Given the description of an element on the screen output the (x, y) to click on. 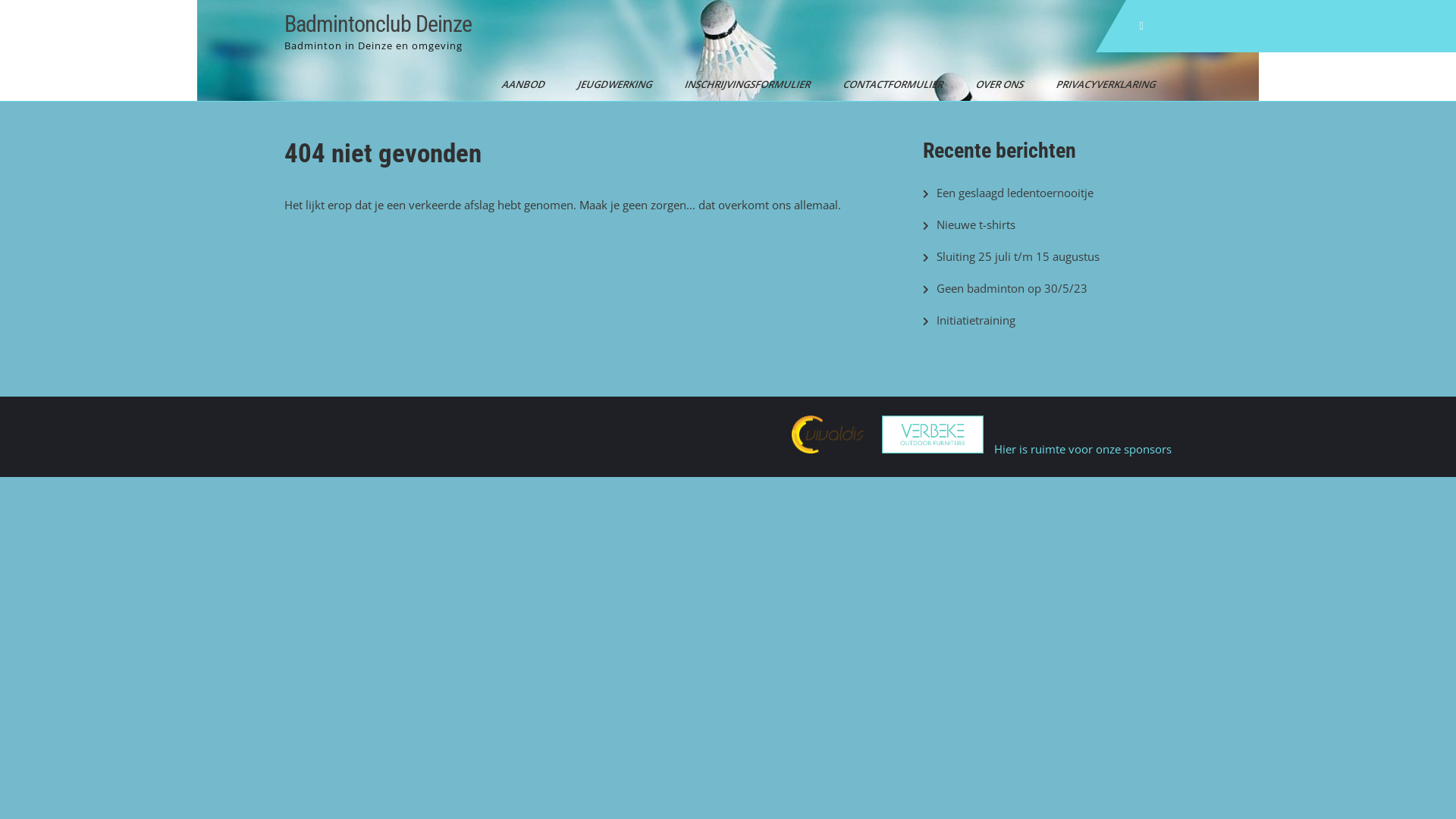
PRIVACYVERKLARING Element type: text (1100, 83)
Hier is ruimte voor onze sponsors Element type: text (1082, 448)
Initiatietraining Element type: text (975, 319)
JEUGDWERKING Element type: text (609, 83)
OVER ONS Element type: text (994, 83)
AANBOD Element type: text (518, 83)
Badmintonclub Deinze Element type: text (377, 23)
CONTACTFORMULIER Element type: text (887, 83)
facebook Element type: hover (1141, 25)
Nieuwe t-shirts Element type: text (975, 224)
Sluiting 25 juli t/m 15 augustus Element type: text (1017, 255)
INSCHRIJVINGSFORMULIER Element type: text (742, 83)
Geen badminton op 30/5/23 Element type: text (1011, 287)
Een geslaagd ledentoernooitje Element type: text (1014, 192)
